Given the description of an element on the screen output the (x, y) to click on. 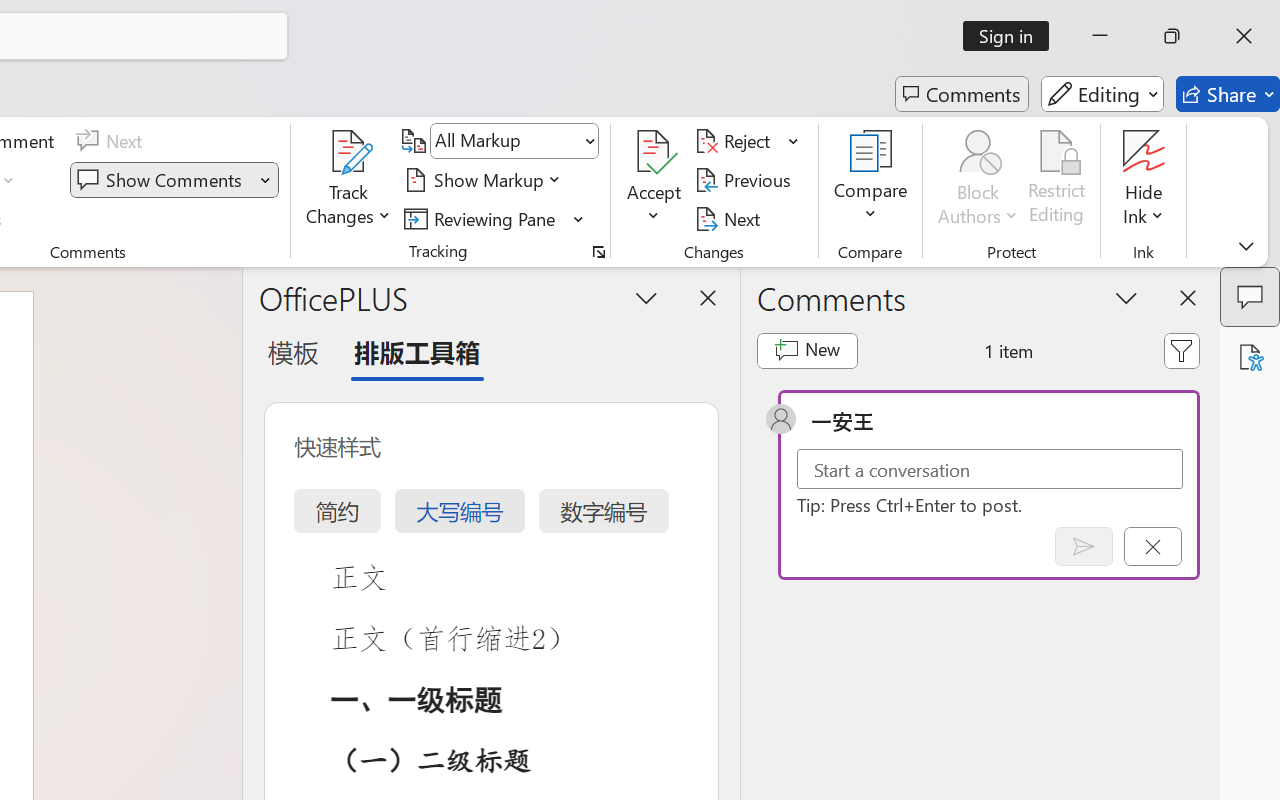
Accept and Move to Next (653, 151)
Next (730, 218)
Reviewing Pane (483, 218)
Compare (870, 179)
Track Changes (349, 151)
Hide Ink (1144, 151)
